Given the description of an element on the screen output the (x, y) to click on. 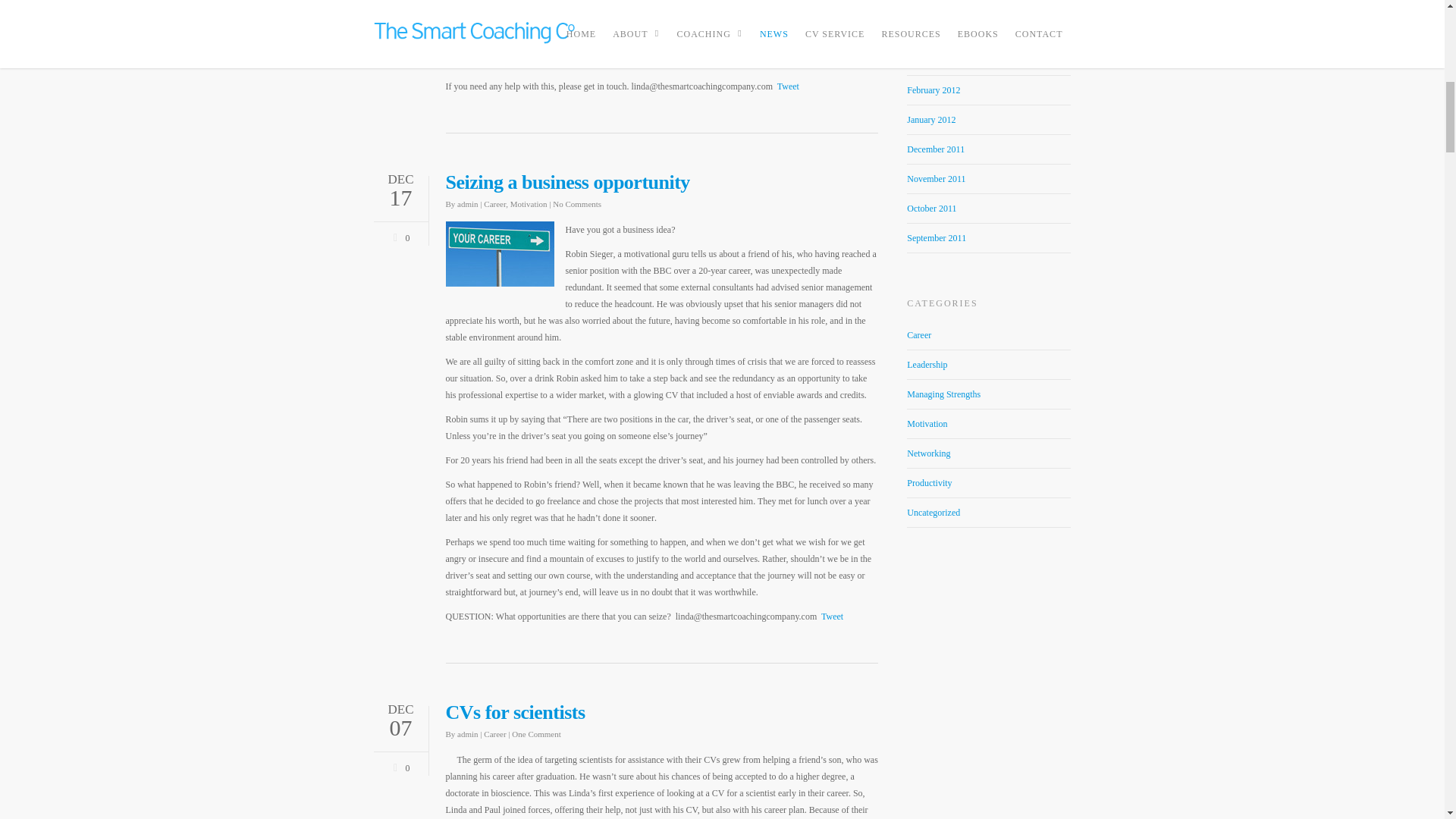
Posts by admin (468, 203)
View all posts in Career (494, 203)
Love this (399, 235)
View all posts in Motivation (529, 203)
View all posts in Career (494, 733)
Posts by admin (468, 733)
Love this (399, 766)
career-planning (499, 253)
